Given the description of an element on the screen output the (x, y) to click on. 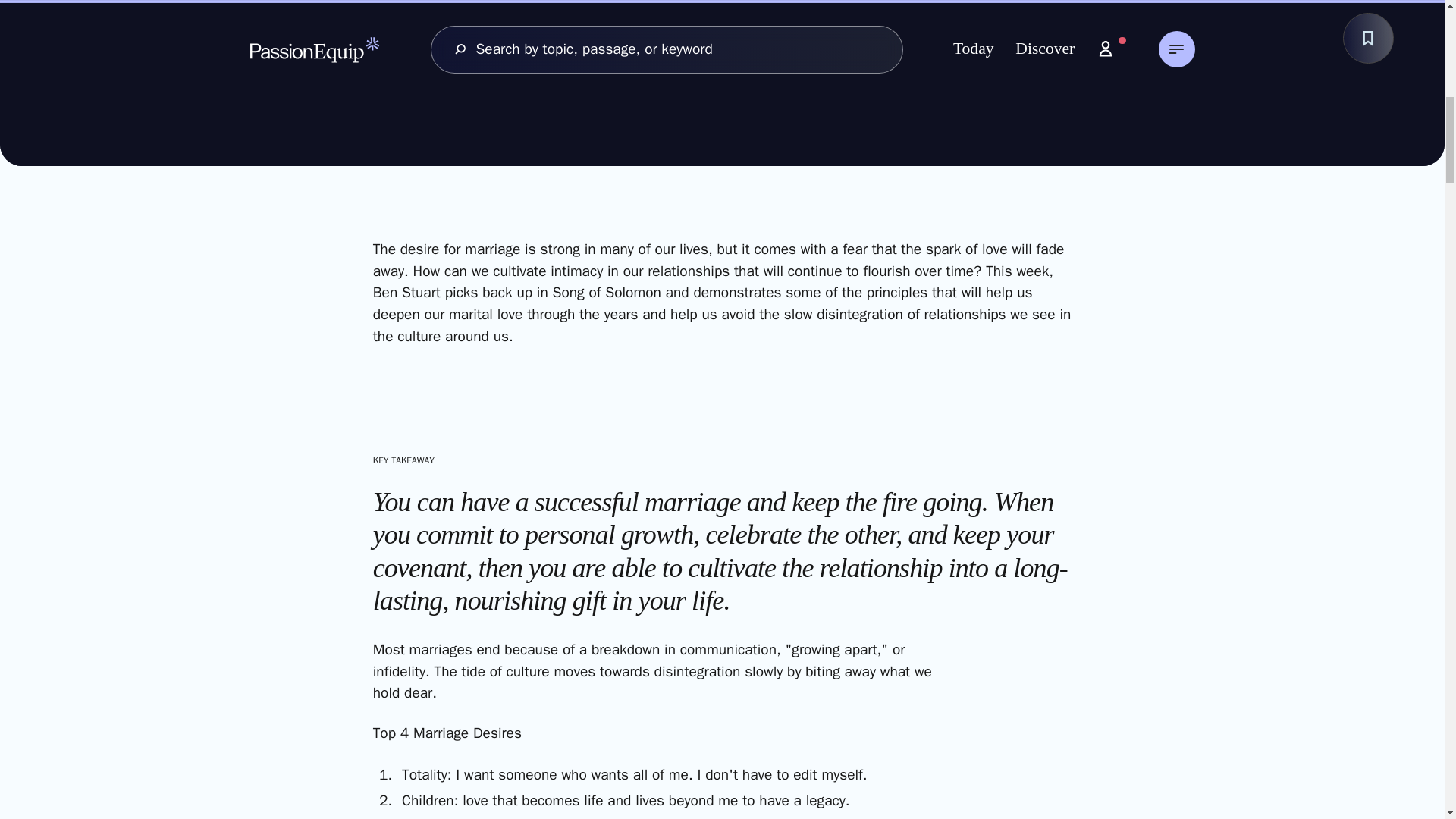
Save (1367, 38)
